Given the description of an element on the screen output the (x, y) to click on. 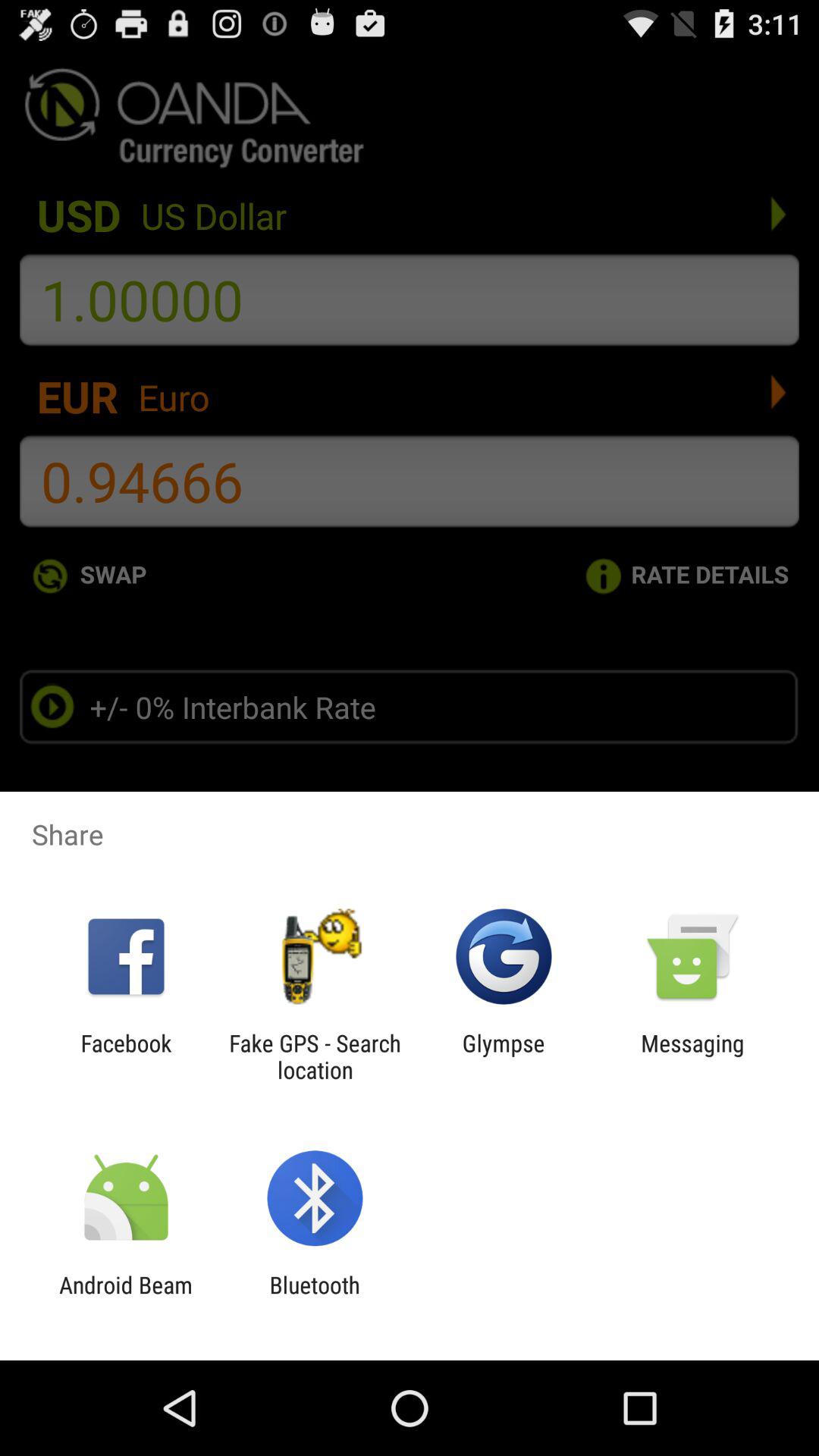
tap icon to the right of facebook item (314, 1056)
